Given the description of an element on the screen output the (x, y) to click on. 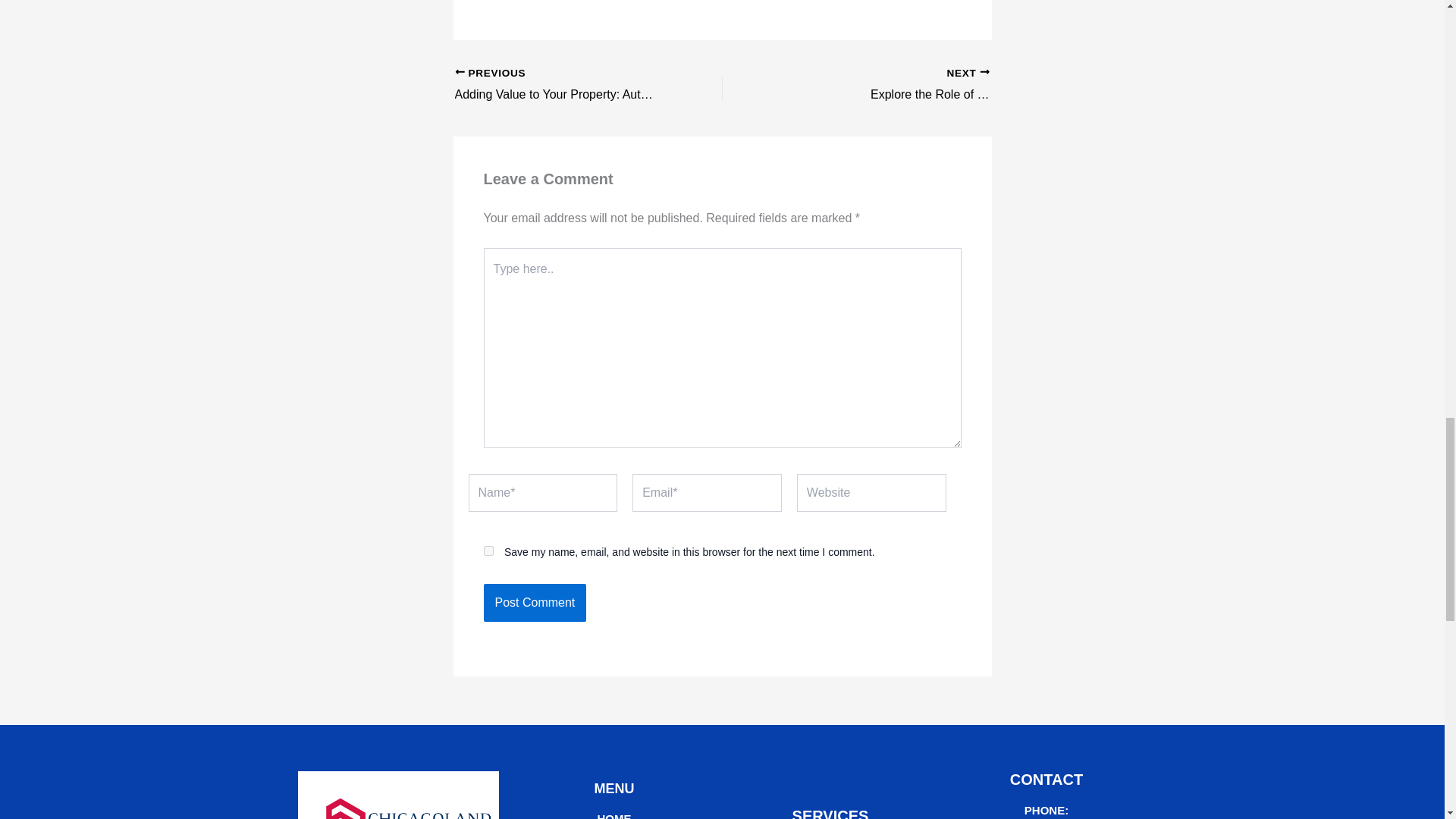
Post Comment (534, 602)
yes (488, 551)
Adding Value to Your Property: Automatic Gates (561, 85)
Explore the Role of Wooden Fences in Rural Settings (923, 85)
